Given the description of an element on the screen output the (x, y) to click on. 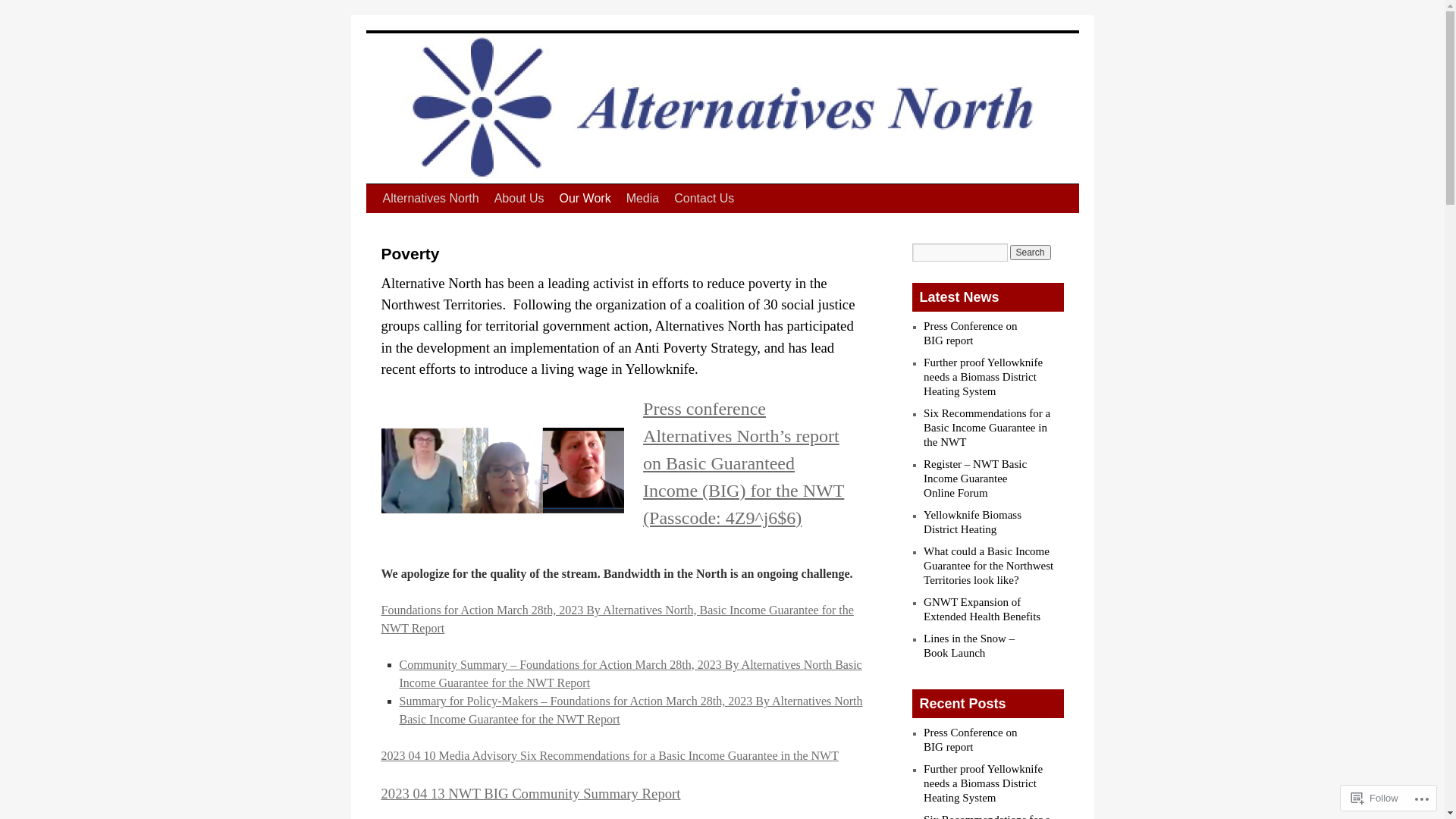
GNWT Expansion of Extended Health Benefits Element type: text (981, 609)
Our Work Element type: text (584, 198)
Alternatives North Element type: text (430, 198)
Press Conference on BIG report Element type: text (969, 333)
Six Recommendations for a Basic Income Guarantee in the NWT Element type: text (986, 427)
Yellowknife Biomass District Heating Element type: text (972, 521)
Media Element type: text (642, 198)
Press Conference on BIG report Element type: text (969, 739)
Search Element type: text (1030, 252)
2023 04 13 NWT BIG Community Summary Report Element type: text (530, 793)
About Us Element type: text (519, 198)
Contact Us Element type: text (703, 198)
Follow Element type: text (1374, 797)
Alternatives North Element type: text (463, 43)
